Given the description of an element on the screen output the (x, y) to click on. 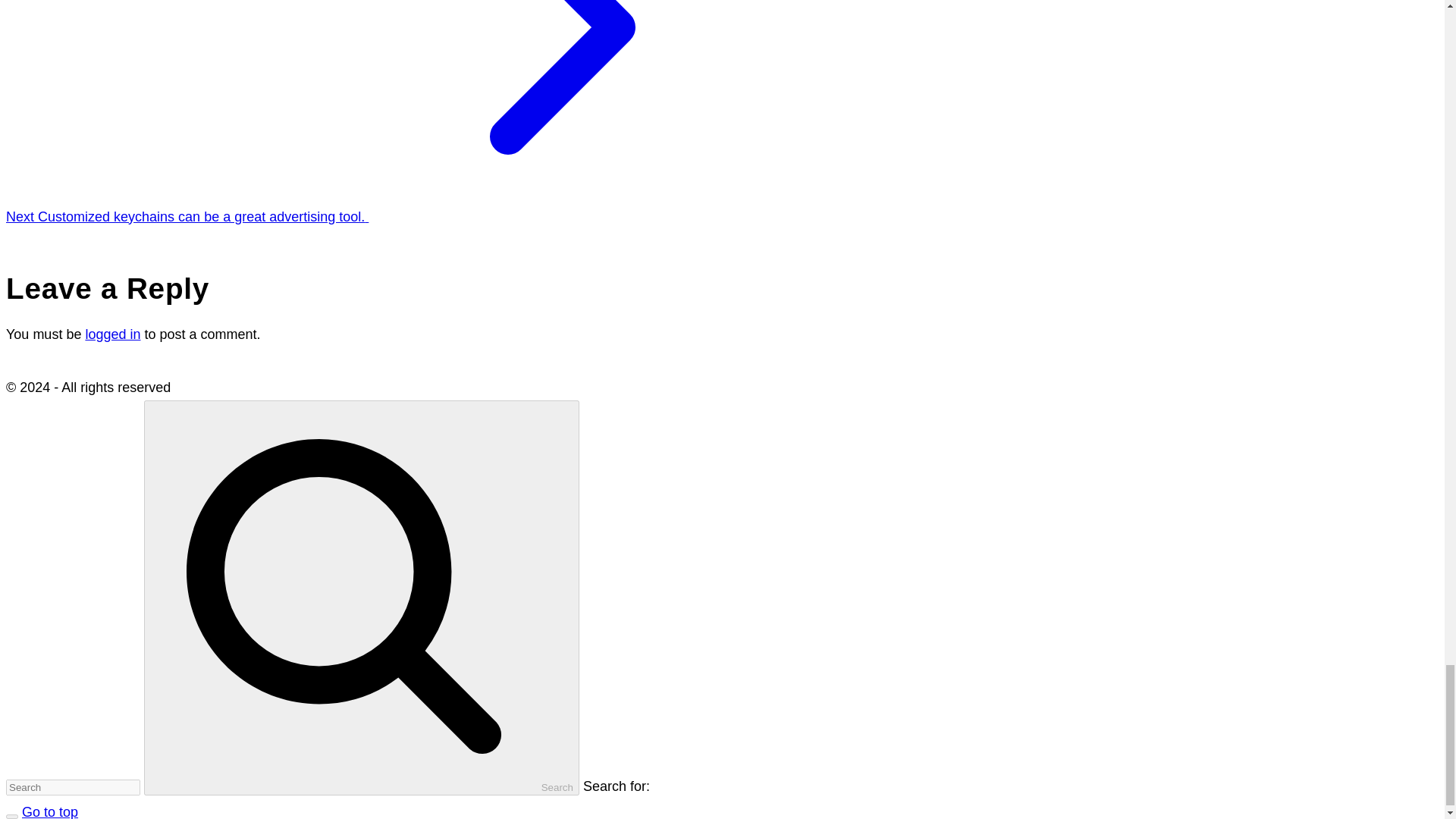
logged in (111, 334)
